Given the description of an element on the screen output the (x, y) to click on. 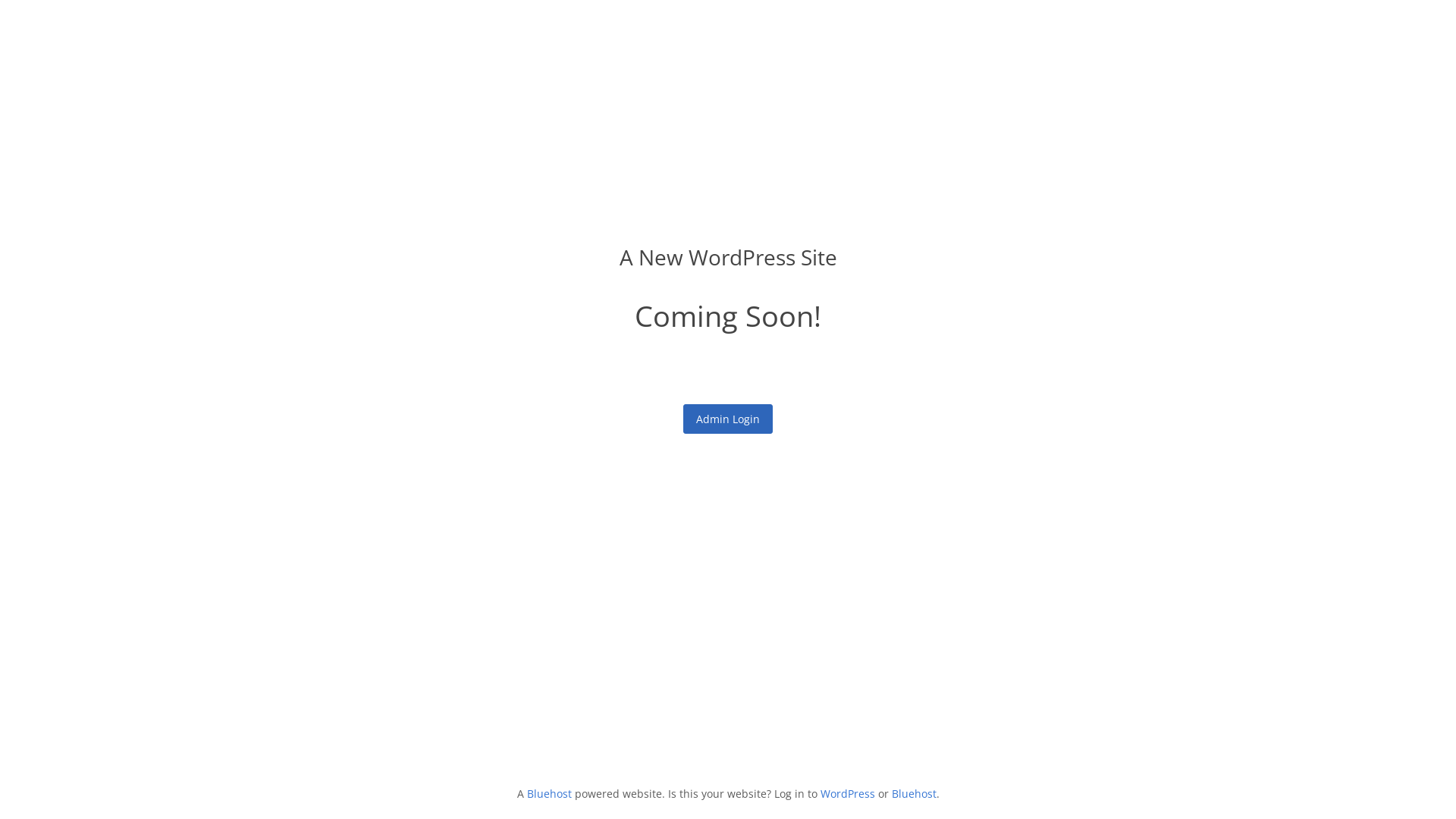
Bluehost Element type: text (913, 793)
Admin Login Element type: text (727, 418)
Bluehost Element type: text (548, 793)
WordPress Element type: text (847, 793)
